Given the description of an element on the screen output the (x, y) to click on. 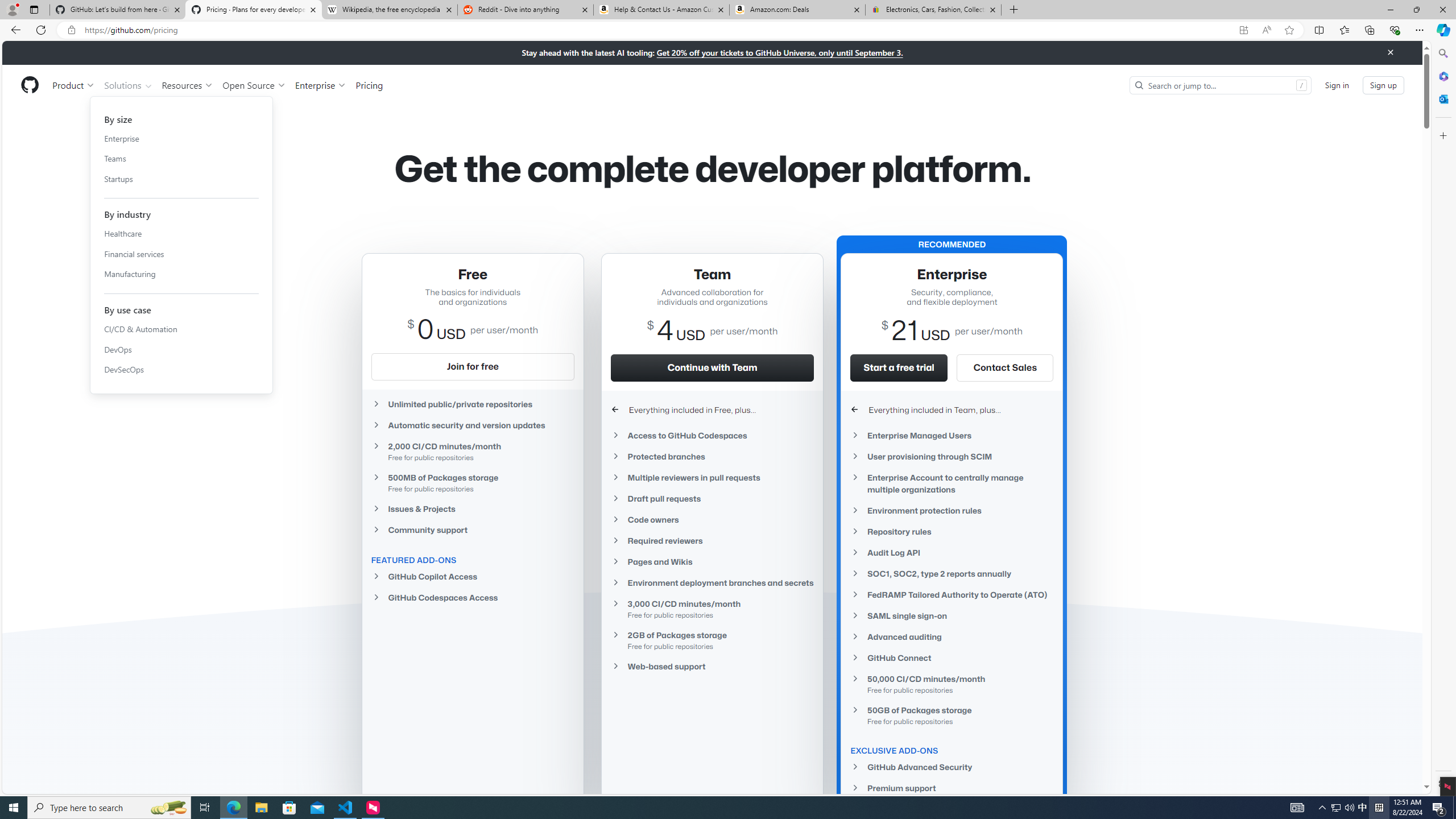
Repository rules (952, 531)
Enterprise Managed Users (952, 435)
Financial services (181, 253)
Open Source (254, 84)
Protected branches (711, 456)
App available. Install GitHub (1243, 29)
3,000 CI/CD minutes/monthFree for public repositories (711, 608)
Protected branches (711, 456)
User provisioning through SCIM (952, 456)
Environment protection rules (952, 510)
Open Source (254, 84)
